Given the description of an element on the screen output the (x, y) to click on. 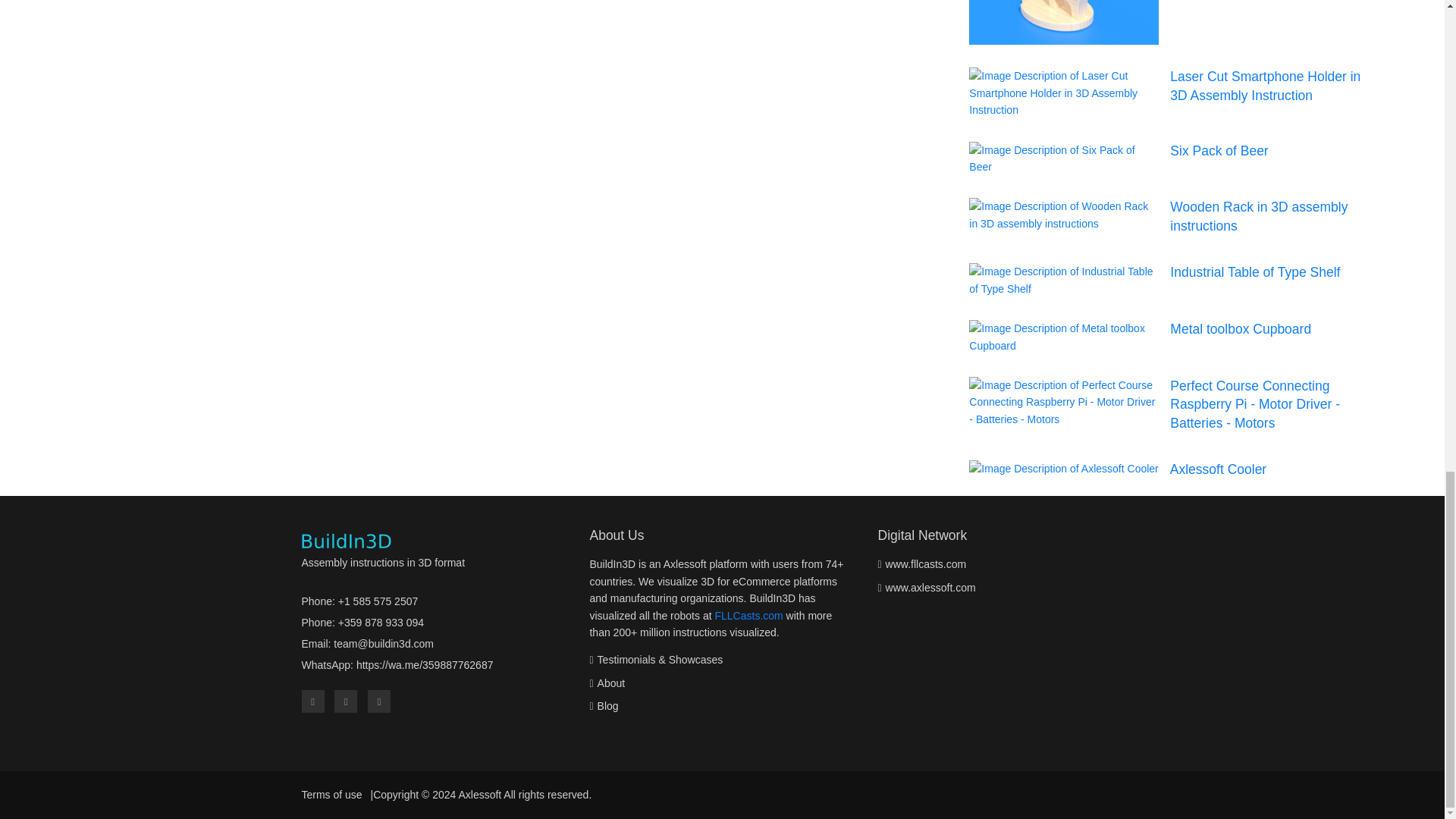
Laser Cut Smartphone Holder in 3D Assembly Instruction (1264, 85)
Metal toolbox Cupboard (1240, 328)
Wooden Rack in 3D assembly instructions (1259, 216)
Industrial Table of Type Shelf (1254, 272)
Six Pack of Beer (1219, 150)
Axlessoft Cooler (1218, 468)
